Given the description of an element on the screen output the (x, y) to click on. 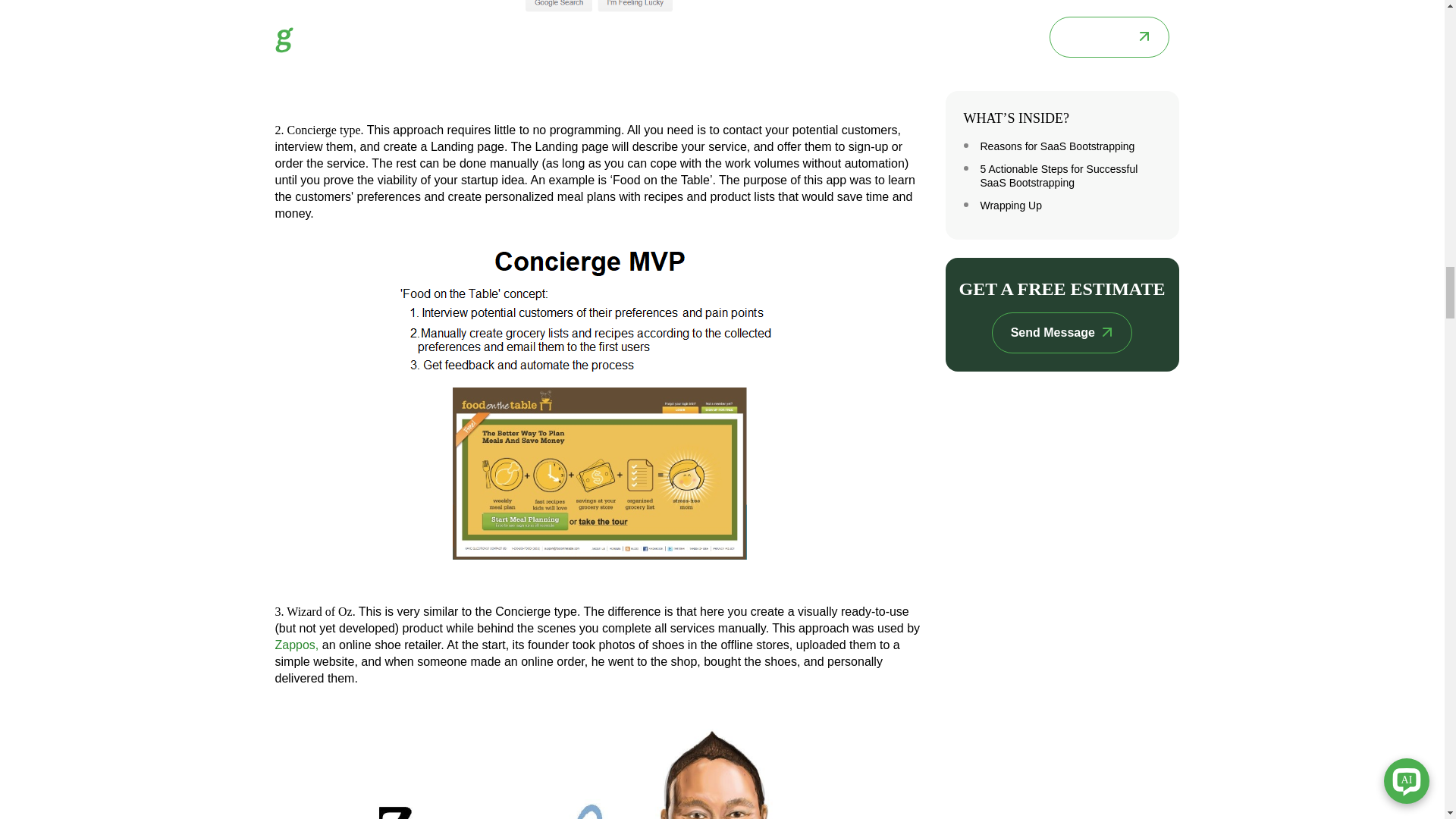
Google (597, 53)
Zappos (597, 762)
